Given the description of an element on the screen output the (x, y) to click on. 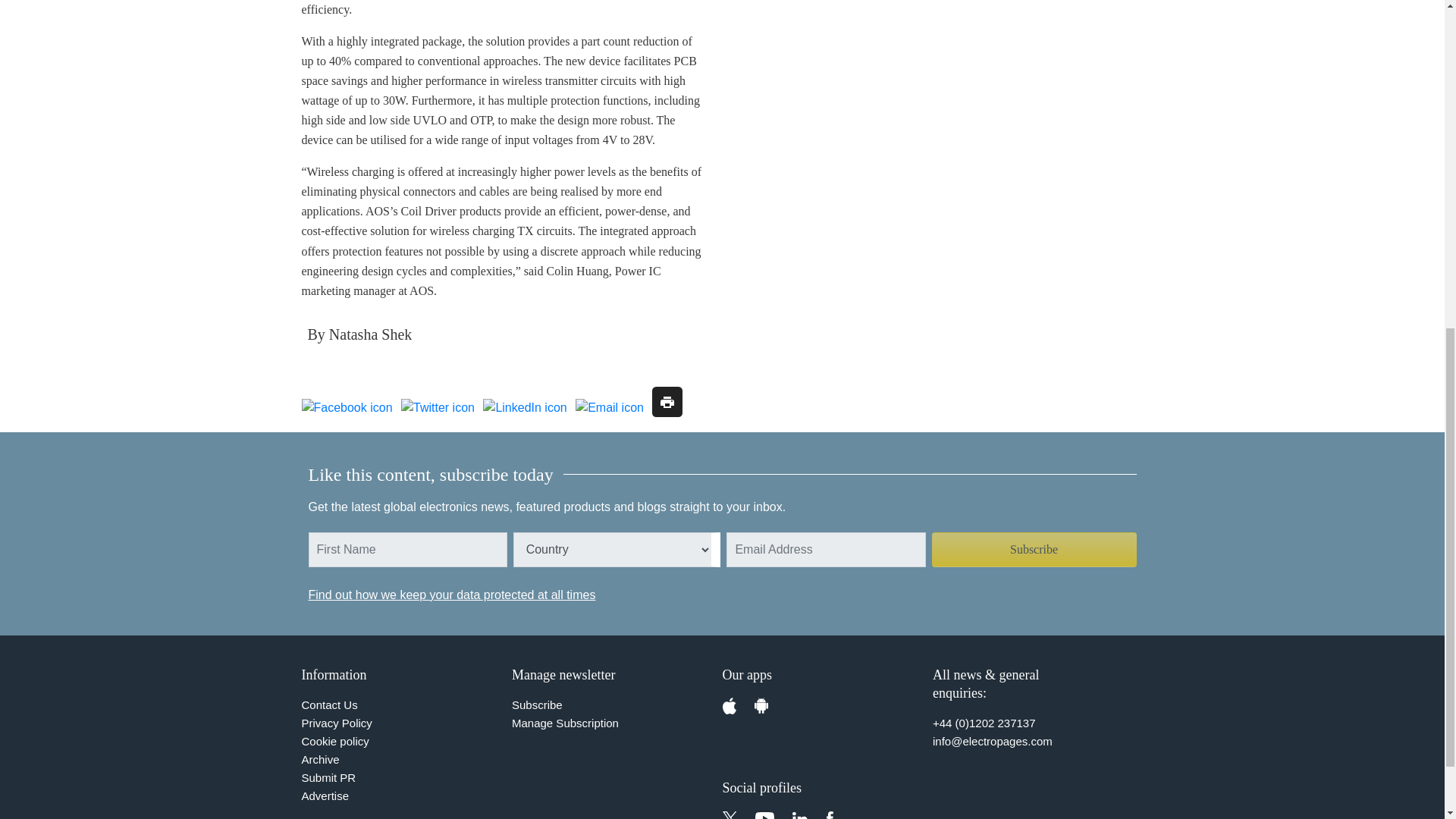
Share on Facebook (347, 407)
Share on LinkedIn (524, 407)
Share on Twitter (437, 407)
Send with Email (609, 407)
